Given the description of an element on the screen output the (x, y) to click on. 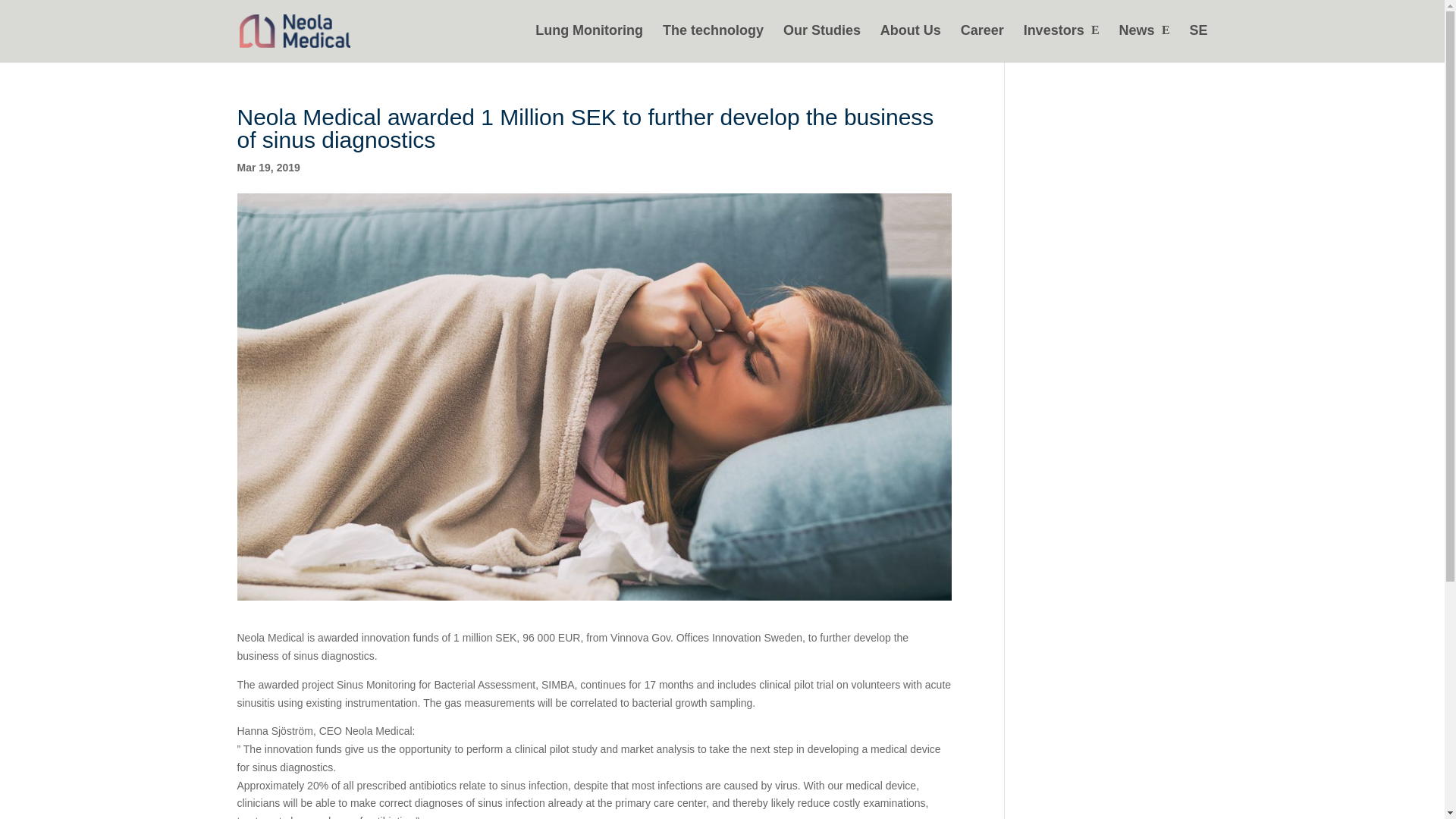
About Us (910, 42)
Investors (1061, 42)
News (1144, 42)
Career (982, 42)
The technology (712, 42)
Our Studies (821, 42)
Lung Monitoring (589, 42)
